Given the description of an element on the screen output the (x, y) to click on. 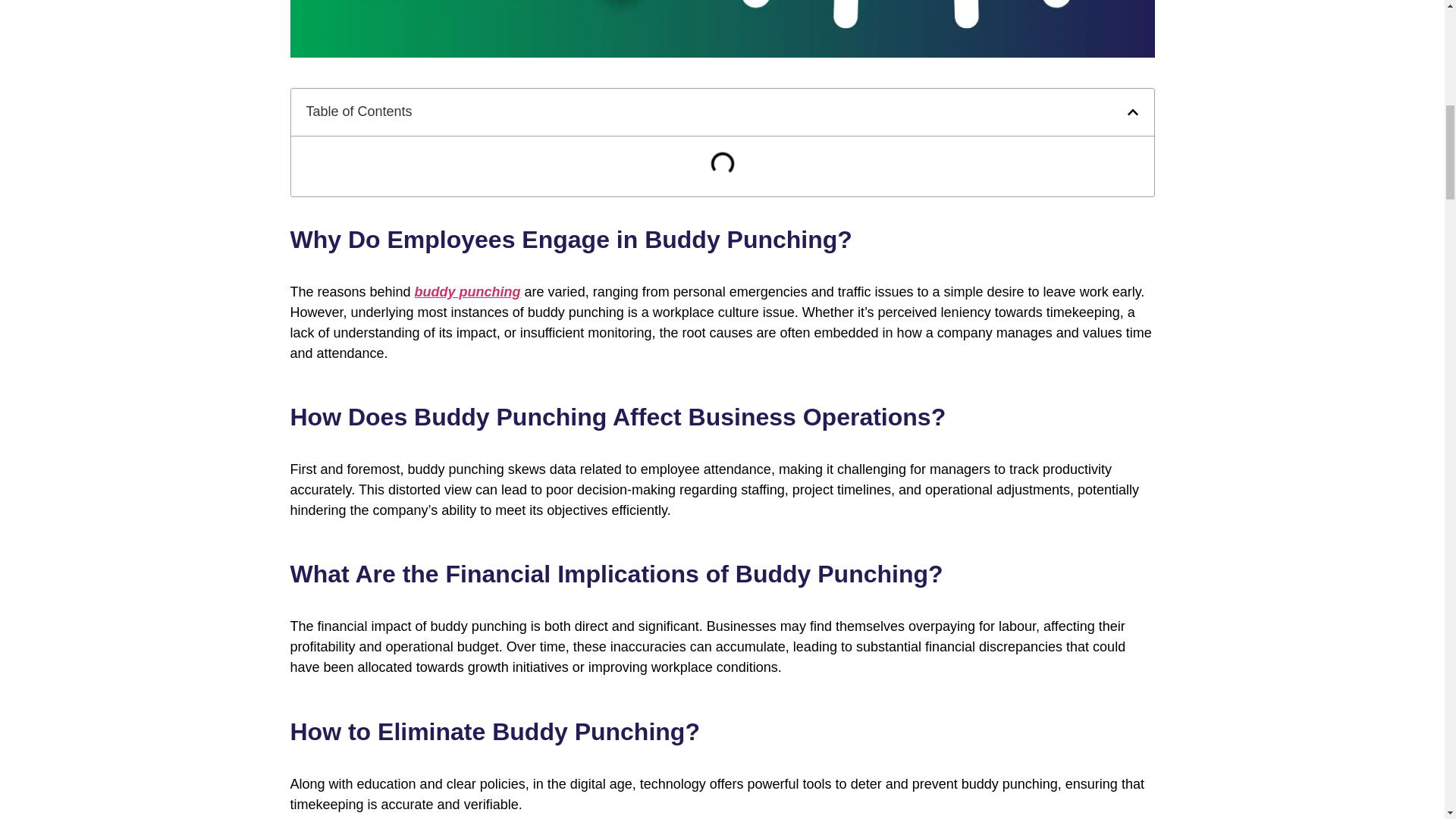
buddy punching (467, 291)
